Given the description of an element on the screen output the (x, y) to click on. 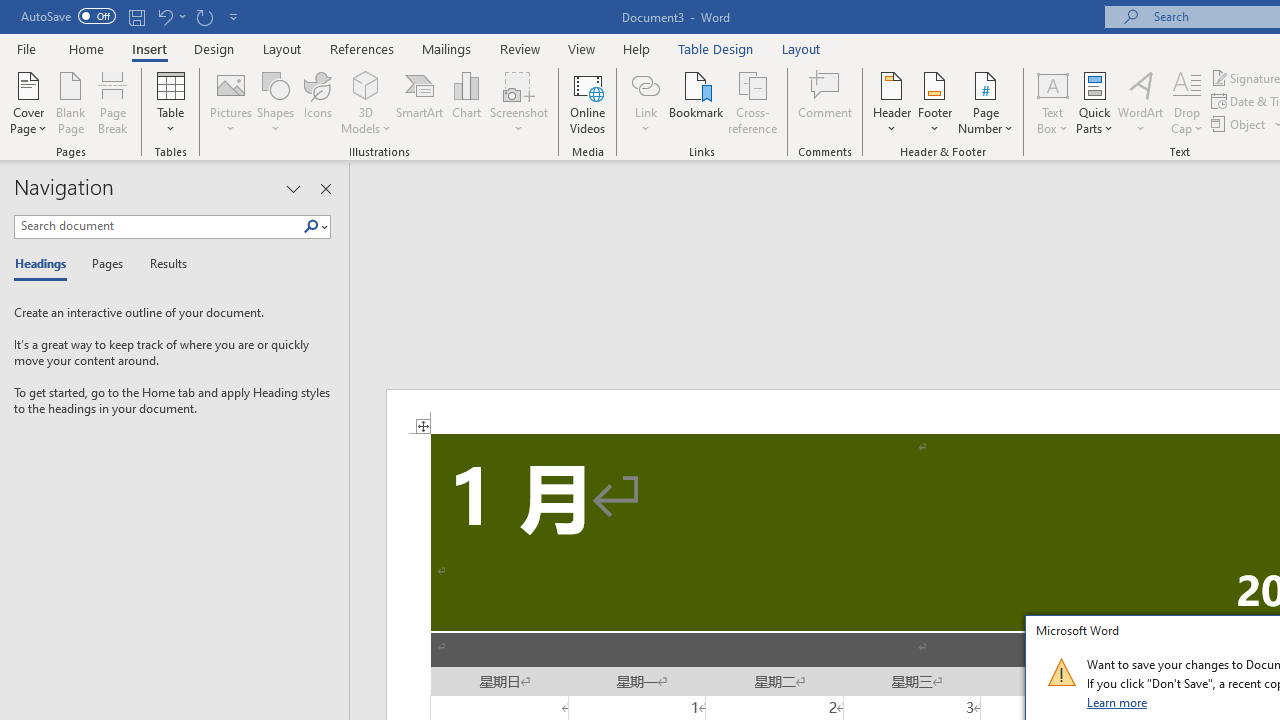
Header (891, 102)
SmartArt... (419, 102)
Shapes (275, 102)
Online Videos... (588, 102)
